Given the description of an element on the screen output the (x, y) to click on. 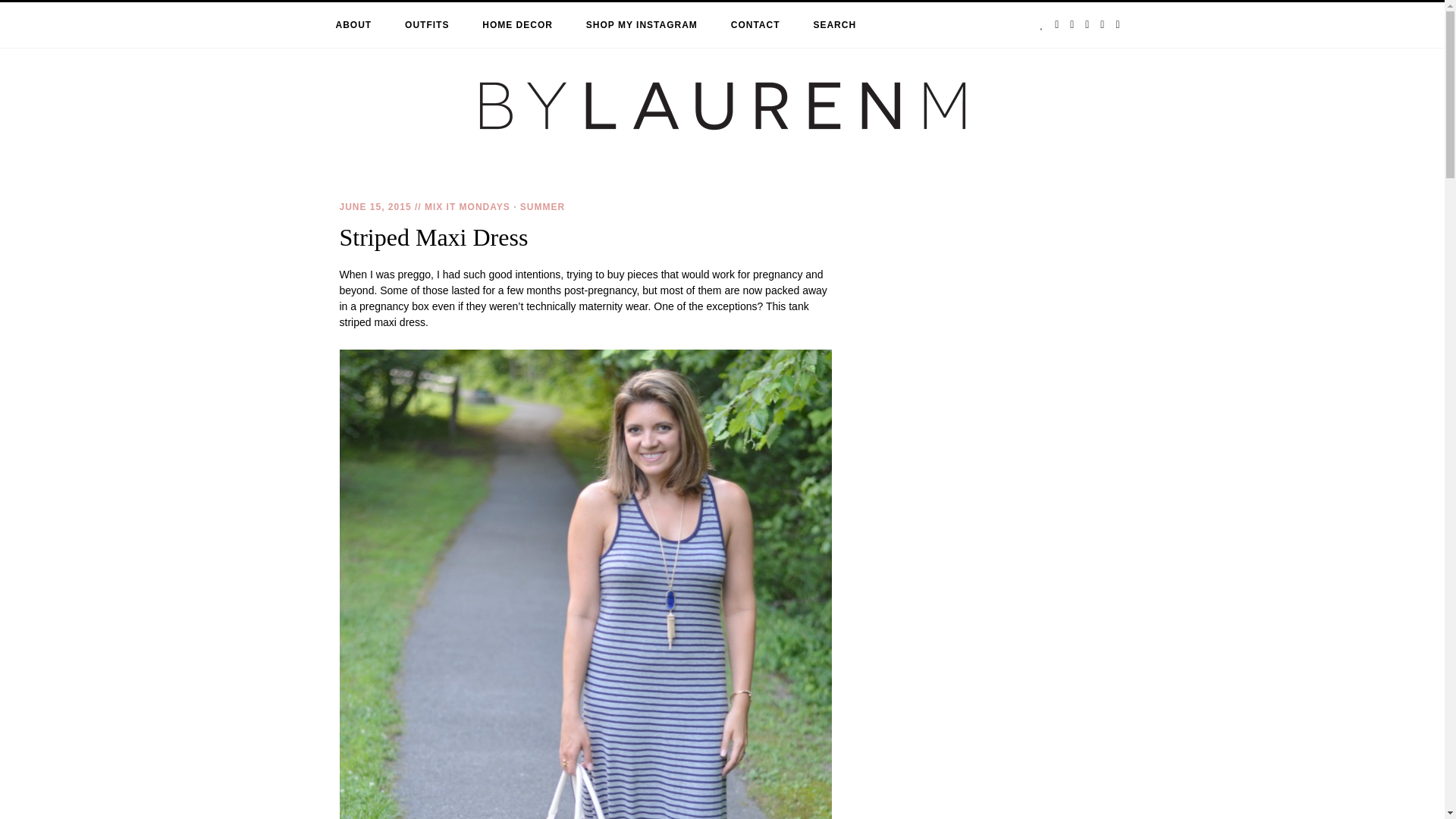
HOME DECOR (517, 24)
SEARCH (834, 24)
BY LAUREN M (163, 224)
By Lauren M (163, 224)
SUMMER (541, 206)
MIX IT MONDAYS (468, 206)
SHOP MY INSTAGRAM (641, 24)
CONTACT (755, 24)
OUTFITS (426, 24)
